Given the description of an element on the screen output the (x, y) to click on. 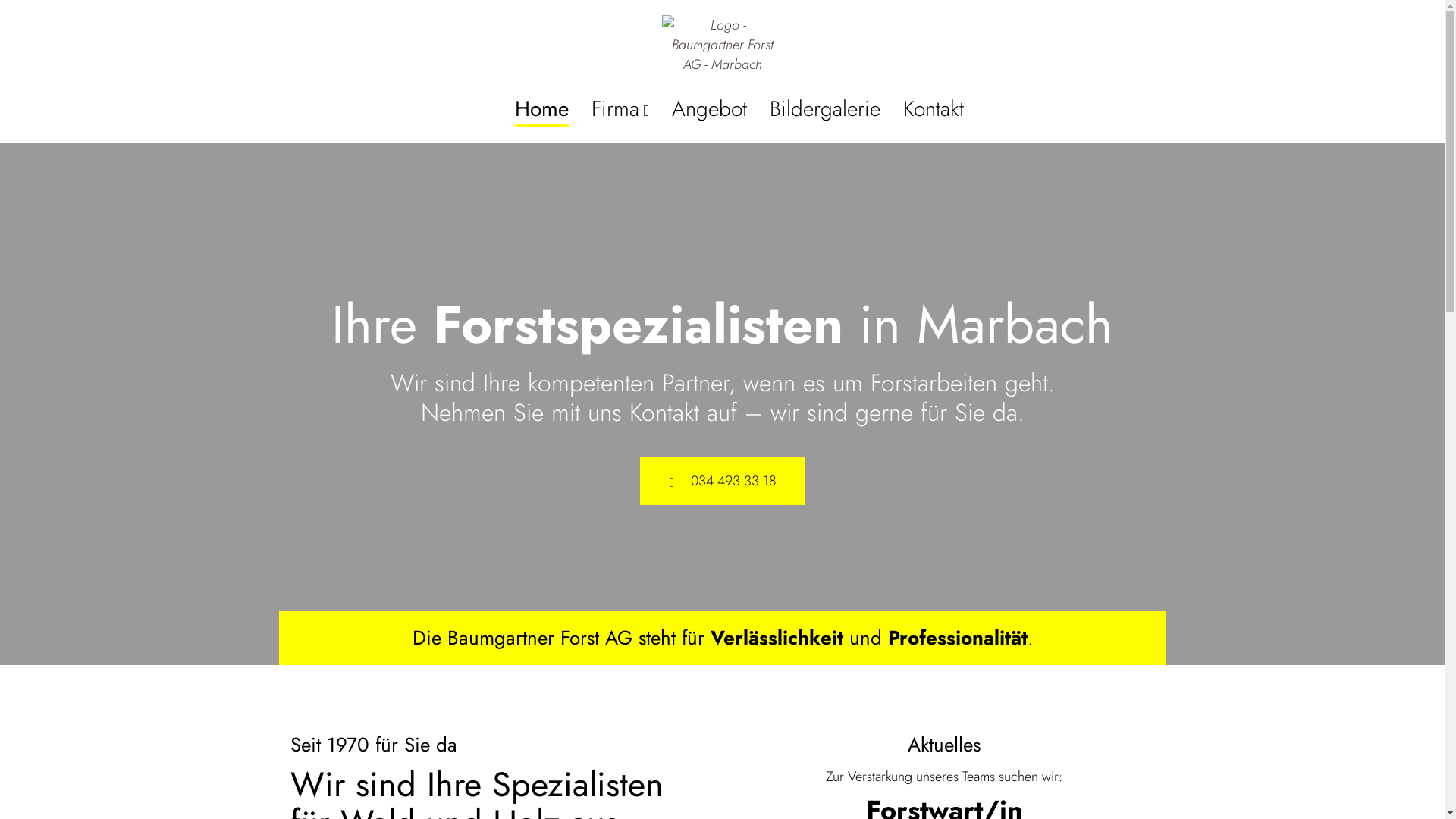
Kontakt Element type: text (933, 109)
Angebot Element type: text (708, 109)
034 493 33 18 Element type: text (722, 481)
Home Element type: text (541, 109)
Bildergalerie Element type: text (824, 109)
Firma Element type: text (620, 109)
